Given the description of an element on the screen output the (x, y) to click on. 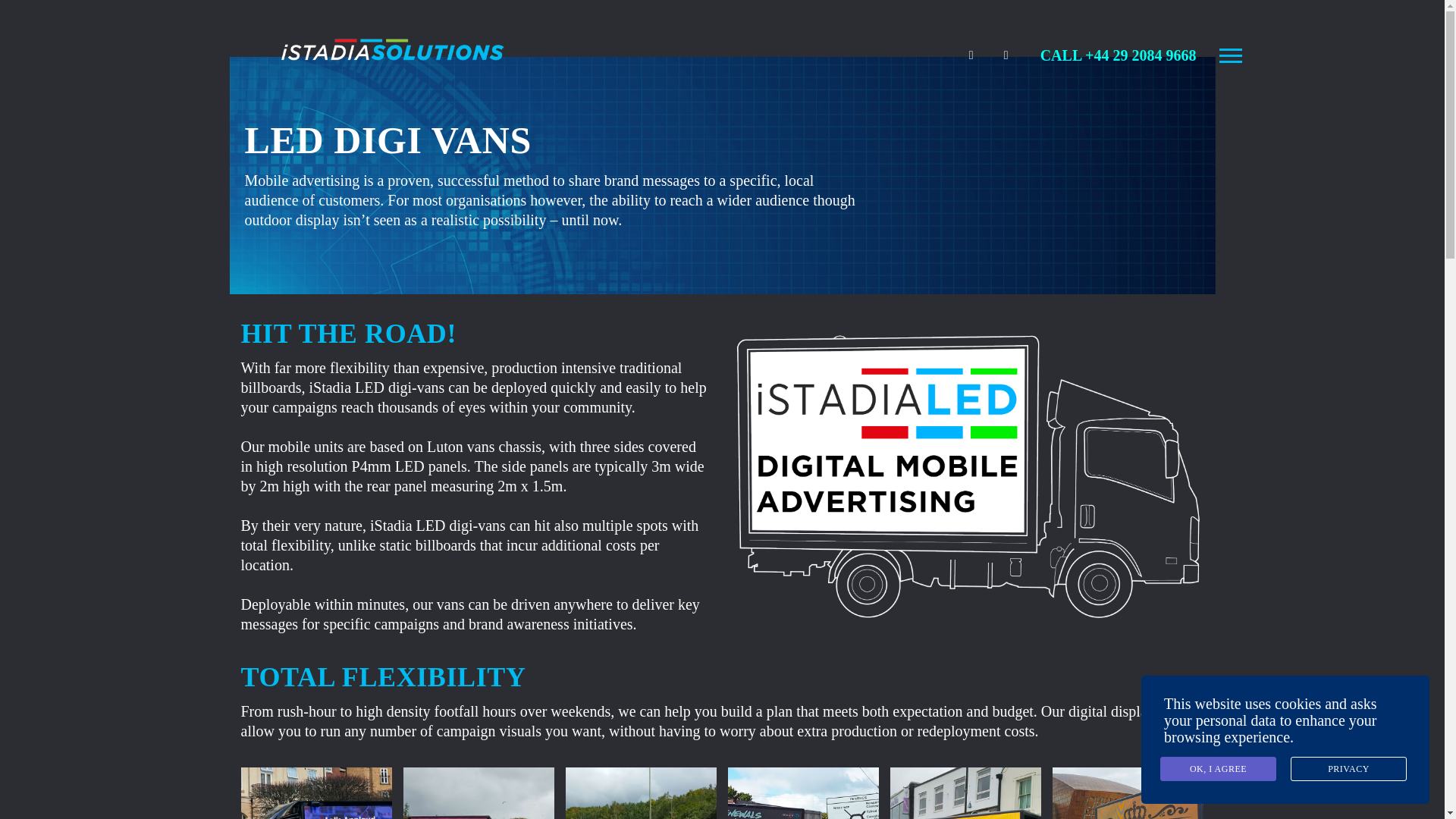
14 (641, 793)
02 (316, 793)
iStadia Solutions (392, 47)
13 (803, 793)
15 (478, 793)
11 (1128, 793)
12 (965, 793)
